Given the description of an element on the screen output the (x, y) to click on. 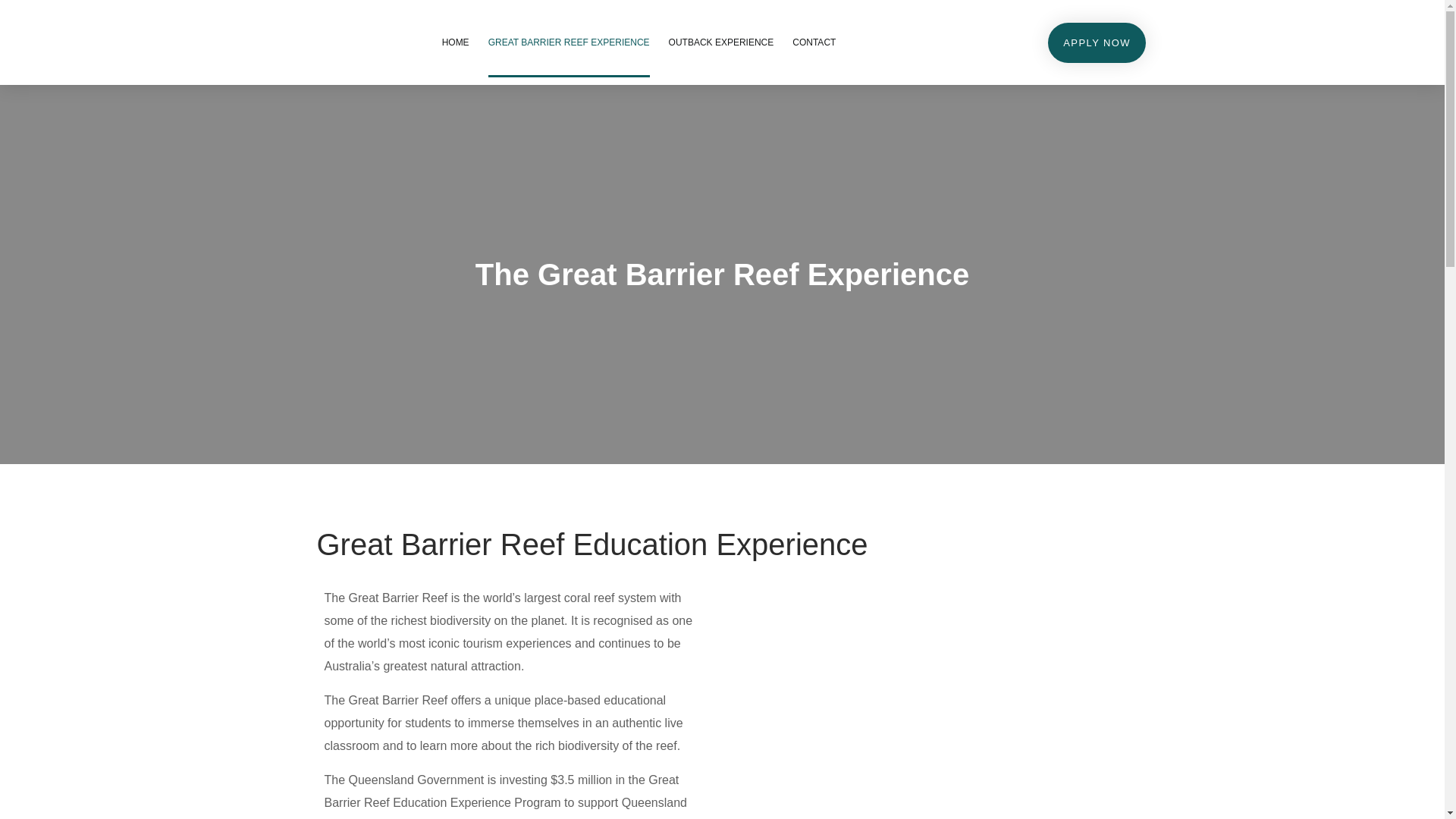
GREAT BARRIER REEF EXPERIENCE Element type: text (568, 42)
APPLY NOW Element type: text (1096, 42)
CONTACT Element type: text (813, 42)
OUTBACK EXPERIENCE Element type: text (721, 42)
HOME Element type: text (455, 42)
